Given the description of an element on the screen output the (x, y) to click on. 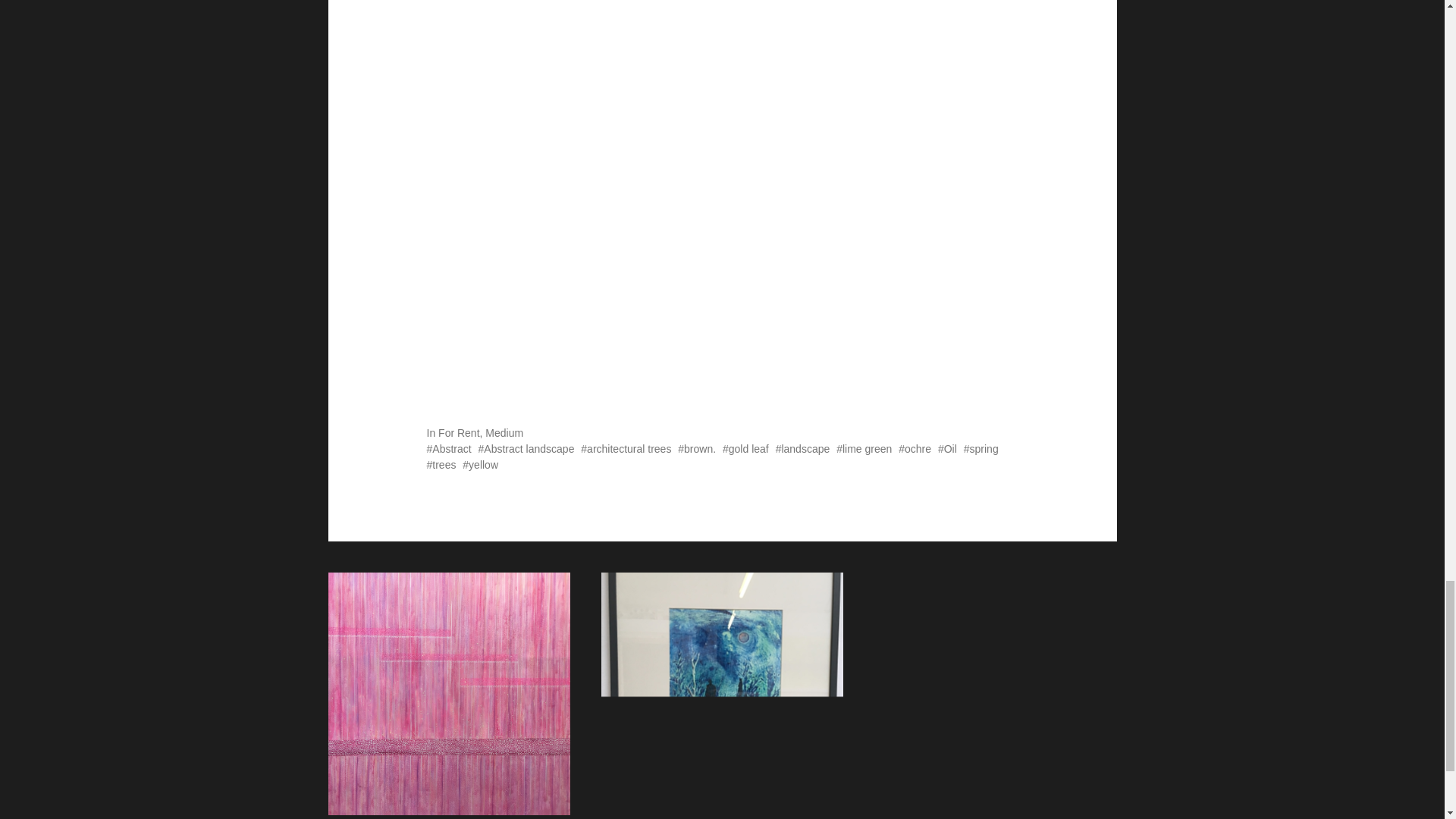
Abstract landscape (527, 449)
yellow (480, 464)
gold leaf (745, 449)
ochre (914, 449)
landscape (802, 449)
Medium (503, 432)
lime green (863, 449)
architectural trees (625, 449)
spring (980, 449)
Oil (946, 449)
Abstract (448, 449)
brown. (697, 449)
trees (440, 464)
For Rent (458, 432)
